Given the description of an element on the screen output the (x, y) to click on. 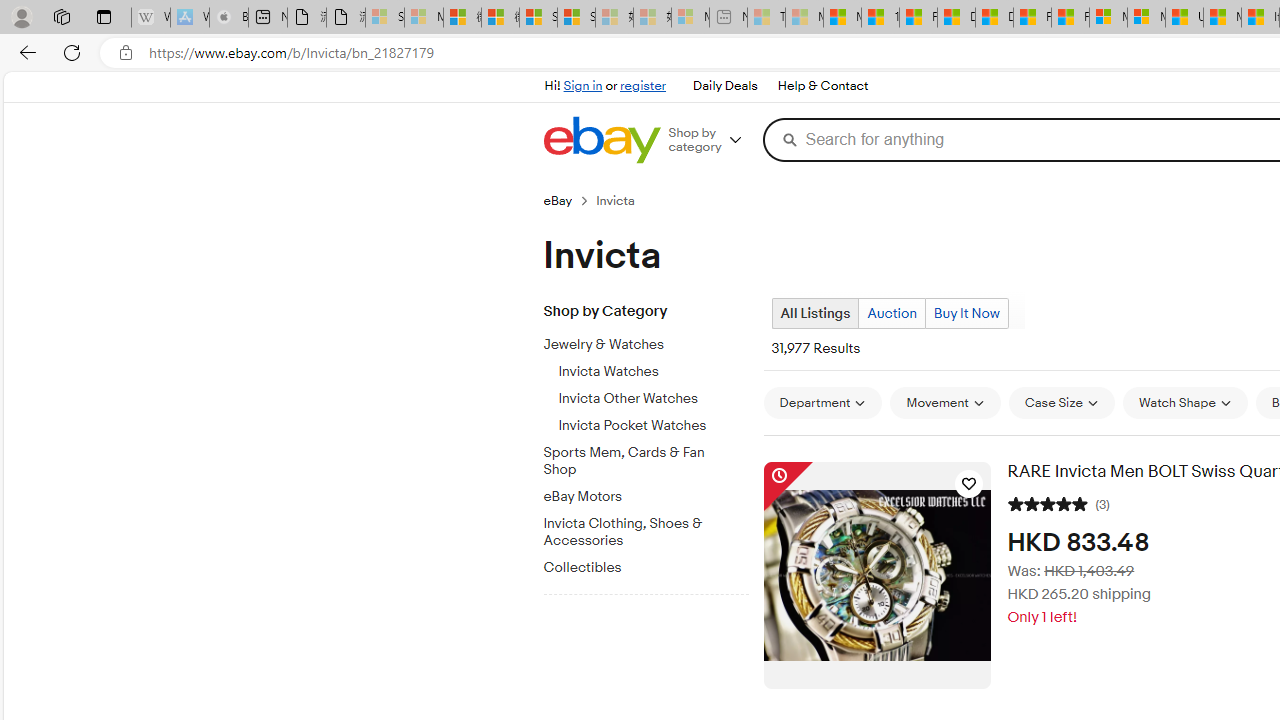
eBay (569, 200)
Daily Deals (724, 85)
Department (822, 403)
Shop by category (711, 140)
All Listings Current view (814, 313)
Invicta Other Watches (653, 399)
Invicta Pocket Watches (653, 426)
Jewelry & Watches (653, 341)
5 out of 5 stars (1047, 502)
register (642, 85)
Food and Drink - MSN (917, 17)
Help & Contact (821, 85)
eBay (557, 200)
